Given the description of an element on the screen output the (x, y) to click on. 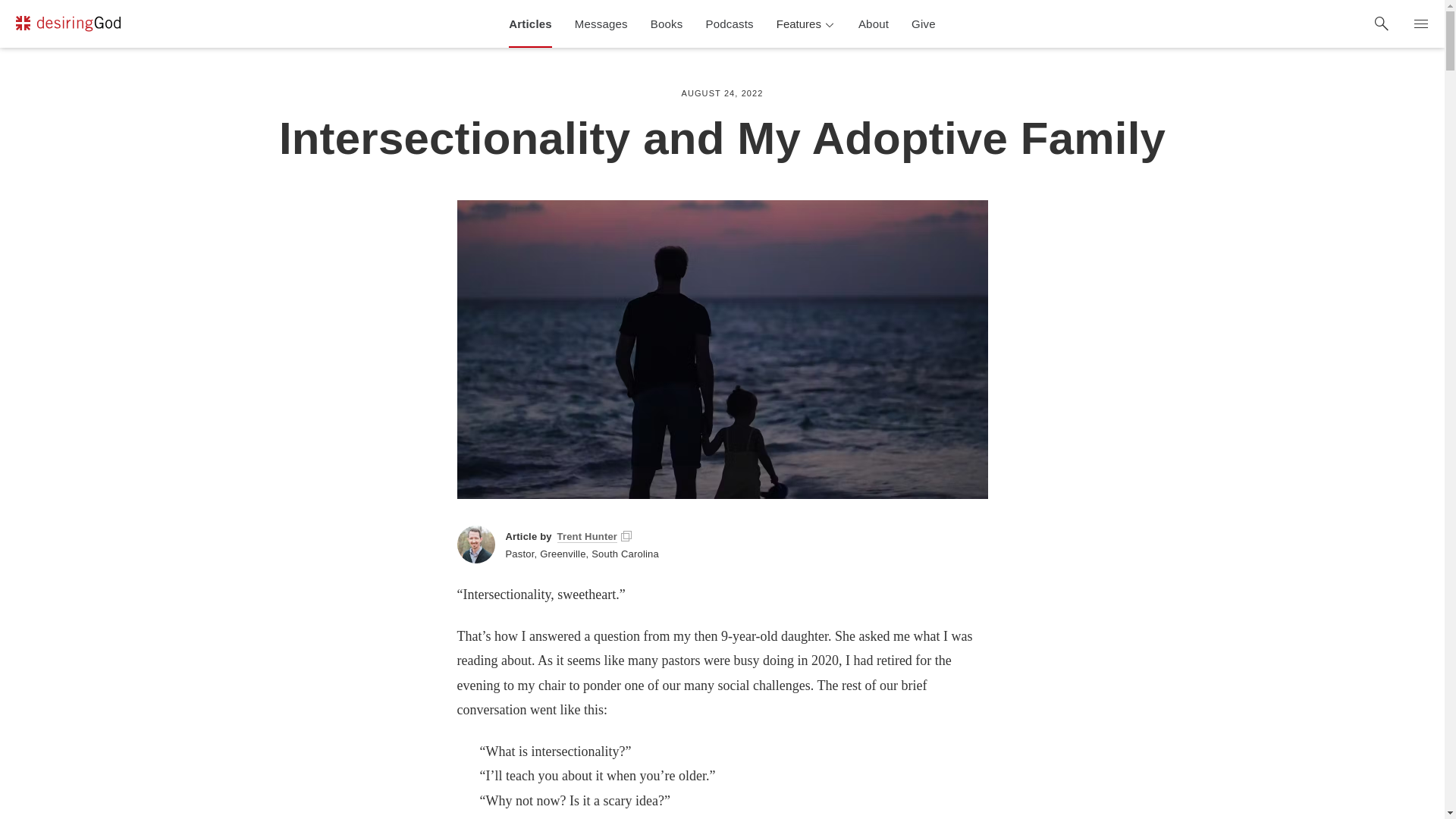
Books (666, 23)
Messages (601, 23)
About (873, 23)
Features (806, 23)
Podcasts (729, 23)
Articles (530, 23)
Give (923, 23)
Desiring God Logo (67, 25)
Desiring God Logo (67, 23)
